Given the description of an element on the screen output the (x, y) to click on. 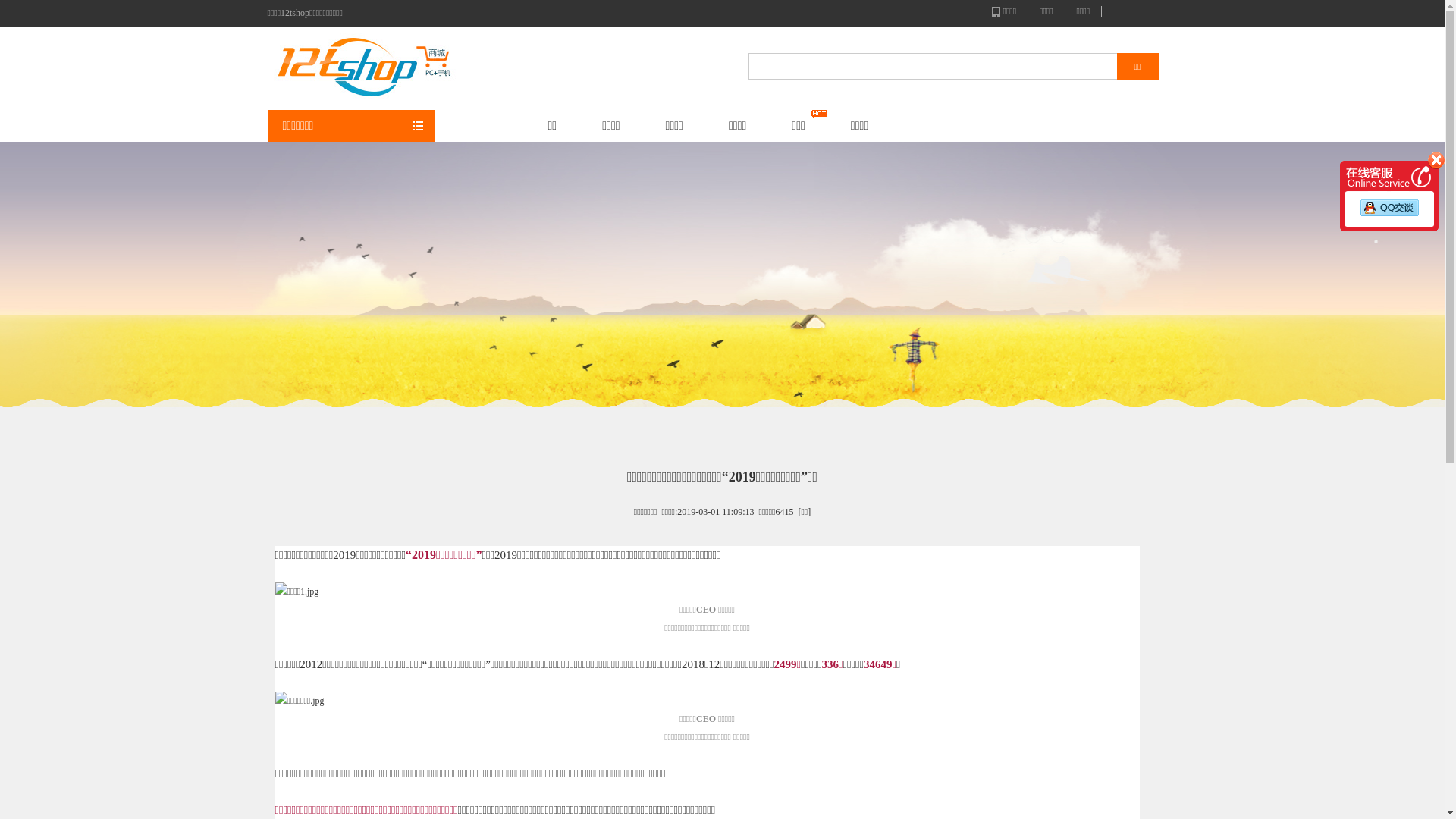
1552961187494133.jpg Element type: hover (296, 591)
1552961195642421.jpg Element type: hover (298, 700)
